Given the description of an element on the screen output the (x, y) to click on. 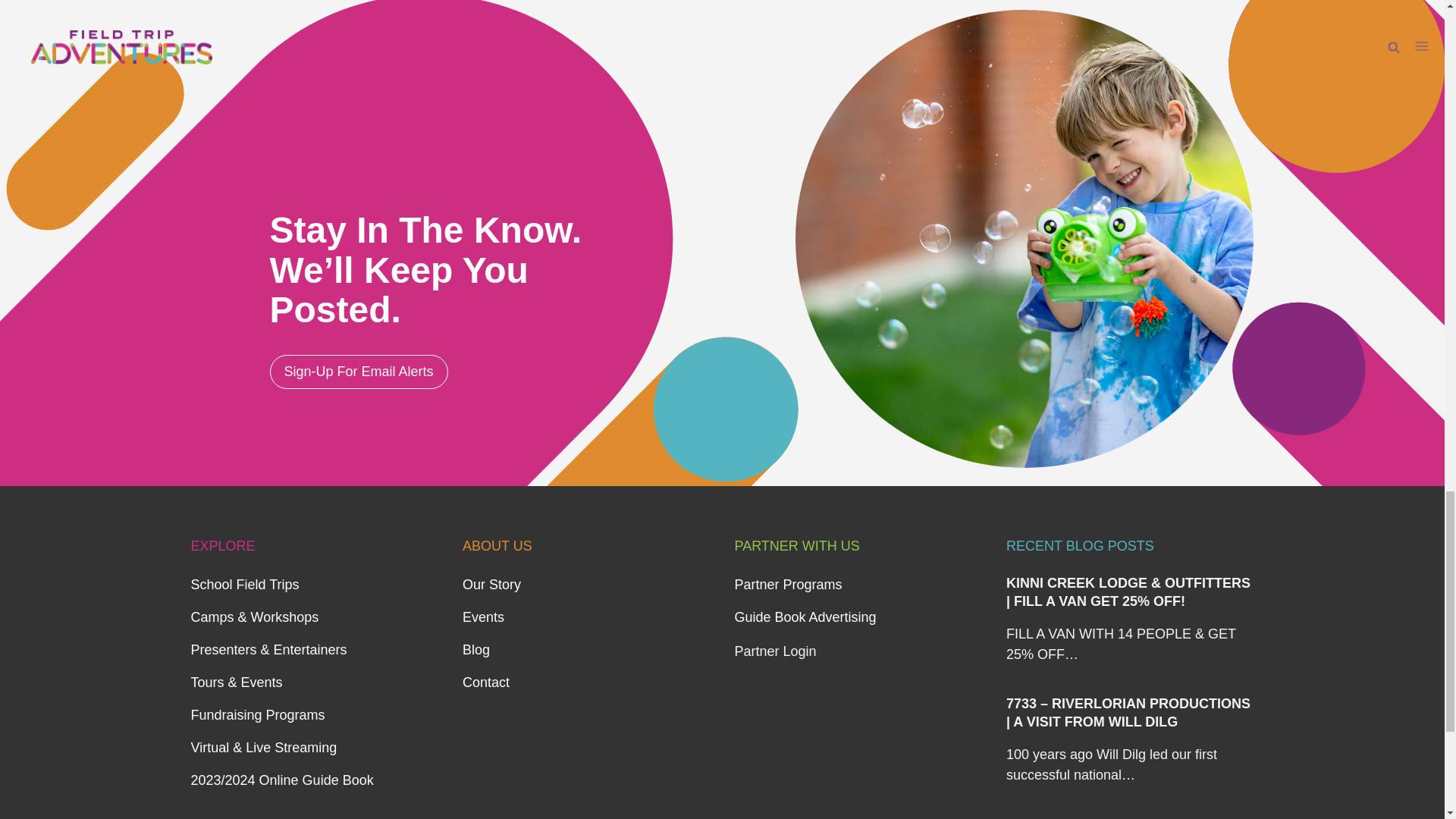
Partner Login (774, 651)
Partner Programs (787, 584)
Sign-Up For Email Alerts (358, 371)
Blog (476, 649)
Our Story (492, 584)
Events (483, 616)
Contact (486, 682)
Guide Book Advertising (804, 616)
School Field Trips (244, 584)
Fundraising Programs (257, 714)
